Given the description of an element on the screen output the (x, y) to click on. 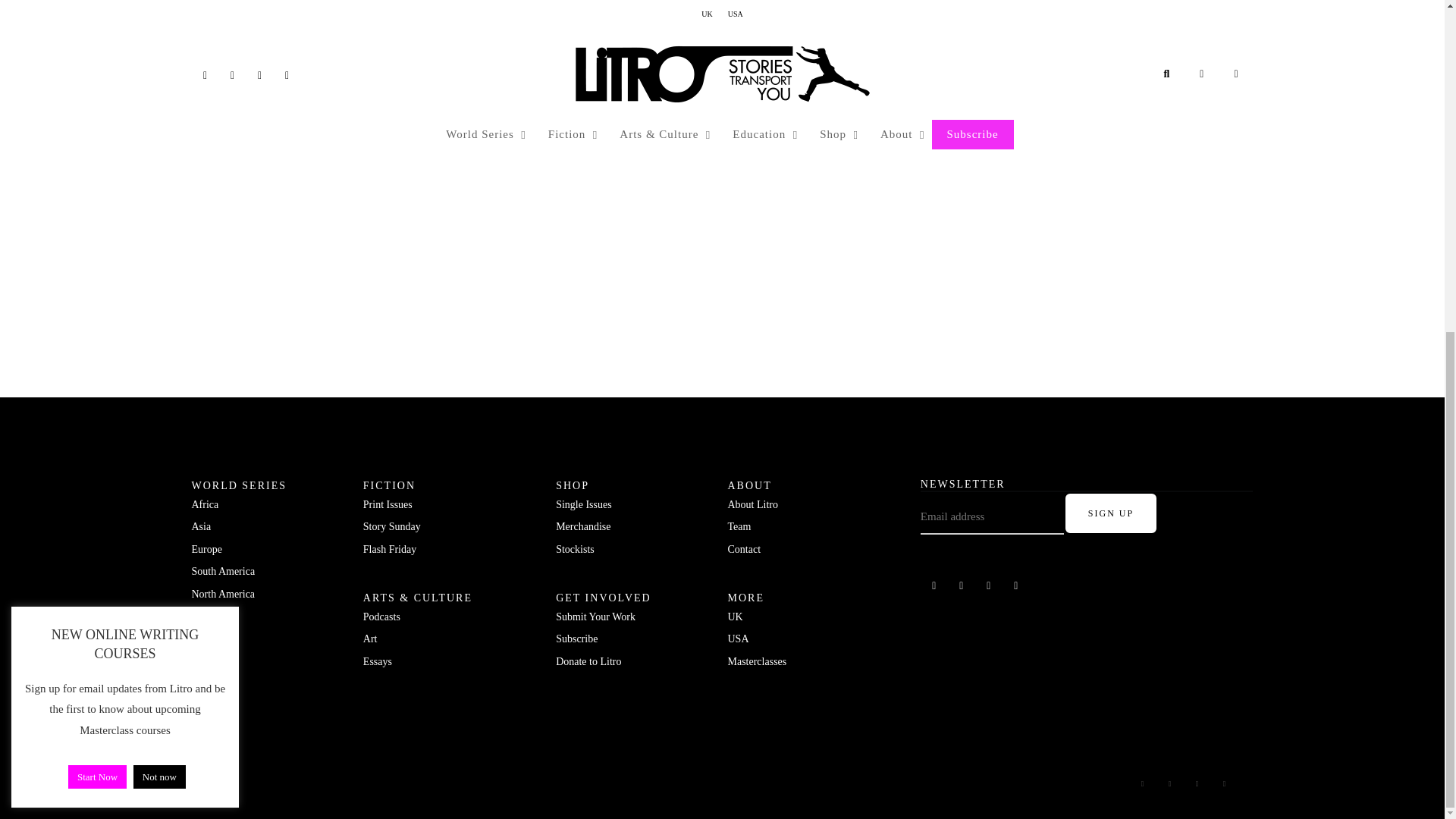
Sign up (1110, 513)
Flickr (961, 586)
Instagram (1195, 783)
Twitter (1016, 586)
Facebook (933, 586)
Facebook (1142, 783)
Instagram (989, 586)
Flickr (1169, 783)
